Given the description of an element on the screen output the (x, y) to click on. 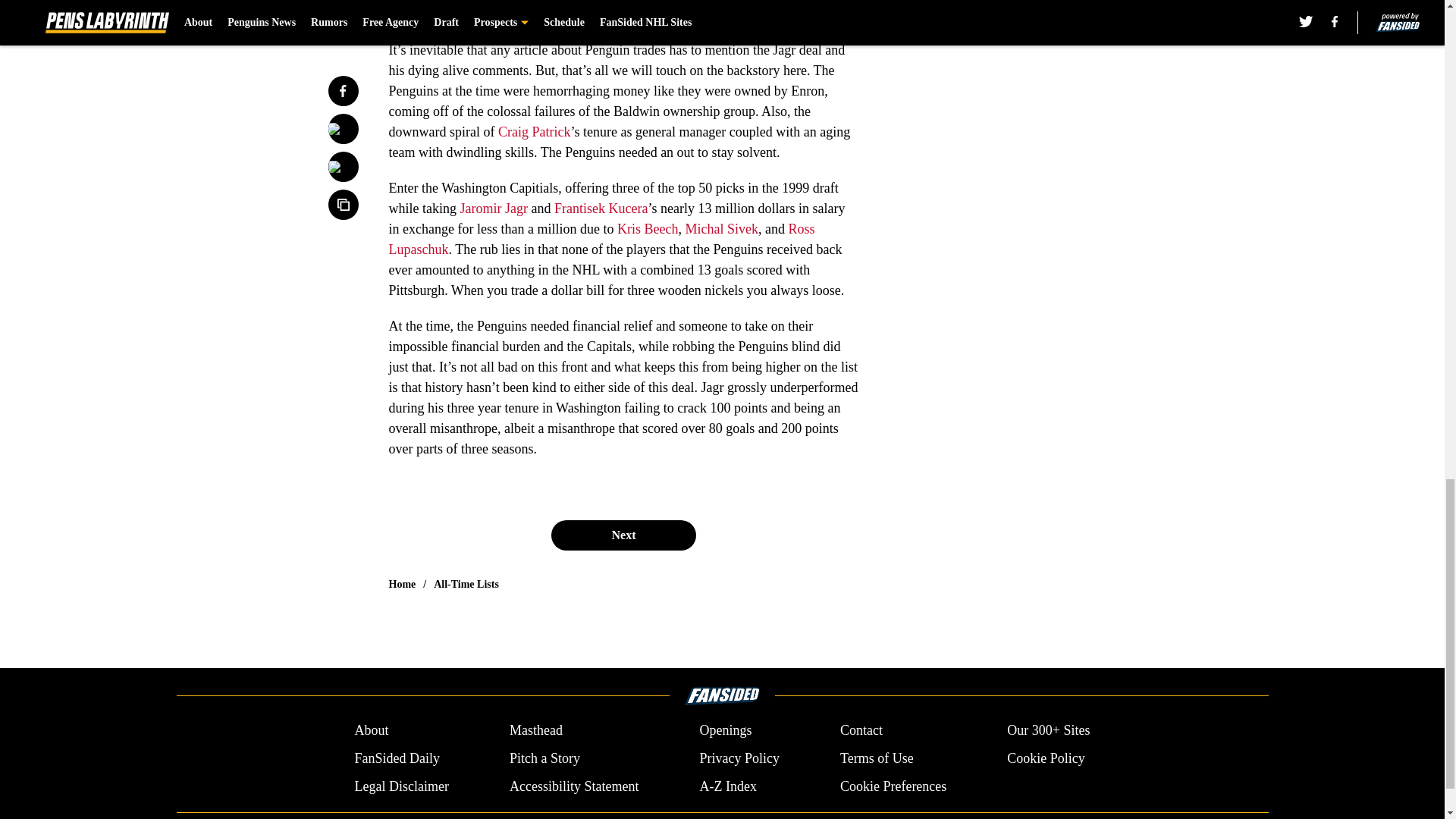
Ross Lupaschuk (600, 239)
Craig Patrick (533, 131)
Next (622, 535)
Masthead (535, 730)
Home (401, 584)
FanSided Daily (396, 758)
All-Time Lists (466, 584)
About (370, 730)
Contact (861, 730)
Pitch a Story (544, 758)
Openings (724, 730)
Frantisek Kucera (600, 208)
Kris Beech (647, 228)
Jaromir Jagr (493, 208)
Michal Sivek (721, 228)
